Given the description of an element on the screen output the (x, y) to click on. 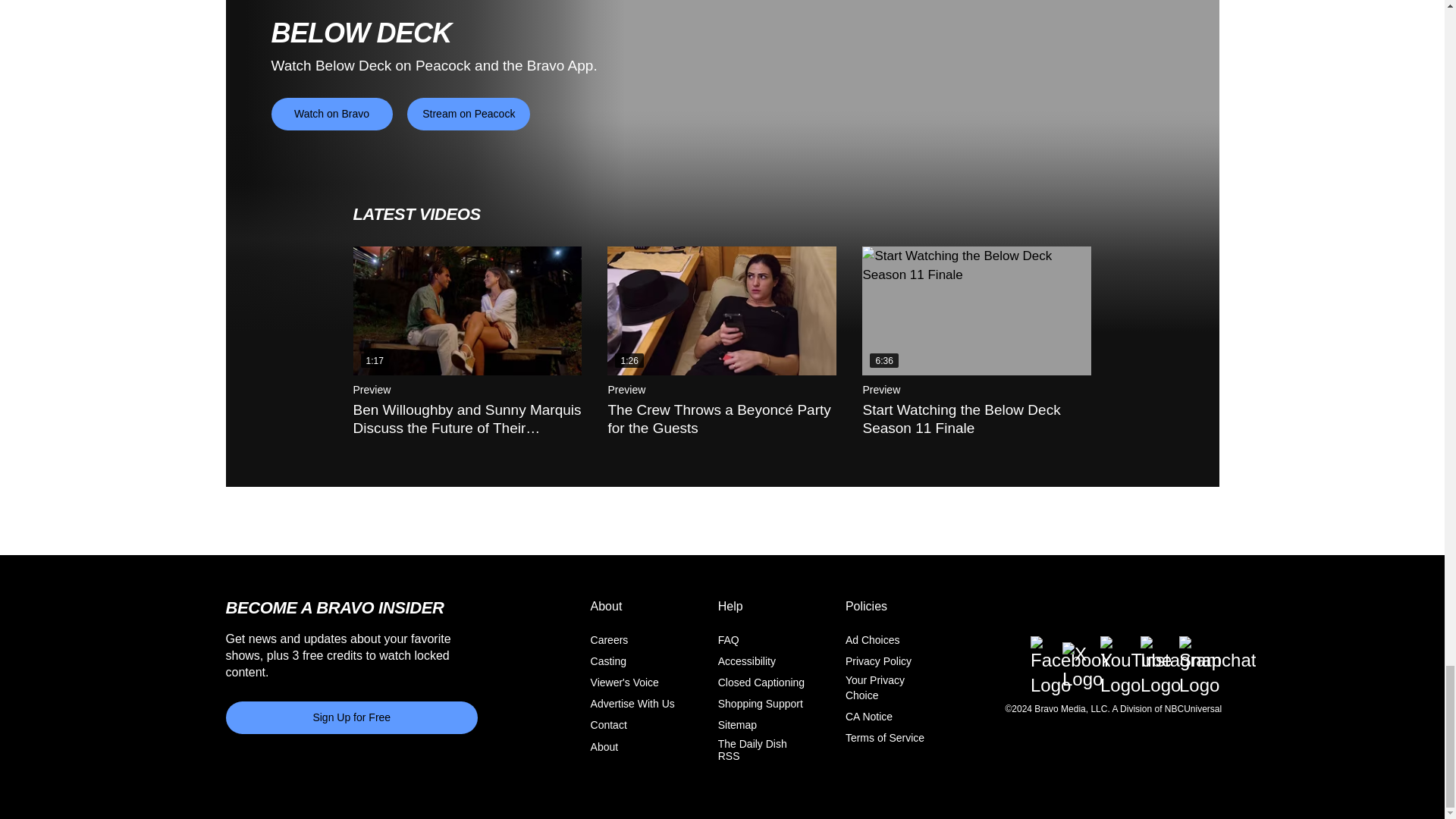
Advertise With Us (633, 704)
Start Watching the Below Deck Season 11 Finale (975, 310)
